Given the description of an element on the screen output the (x, y) to click on. 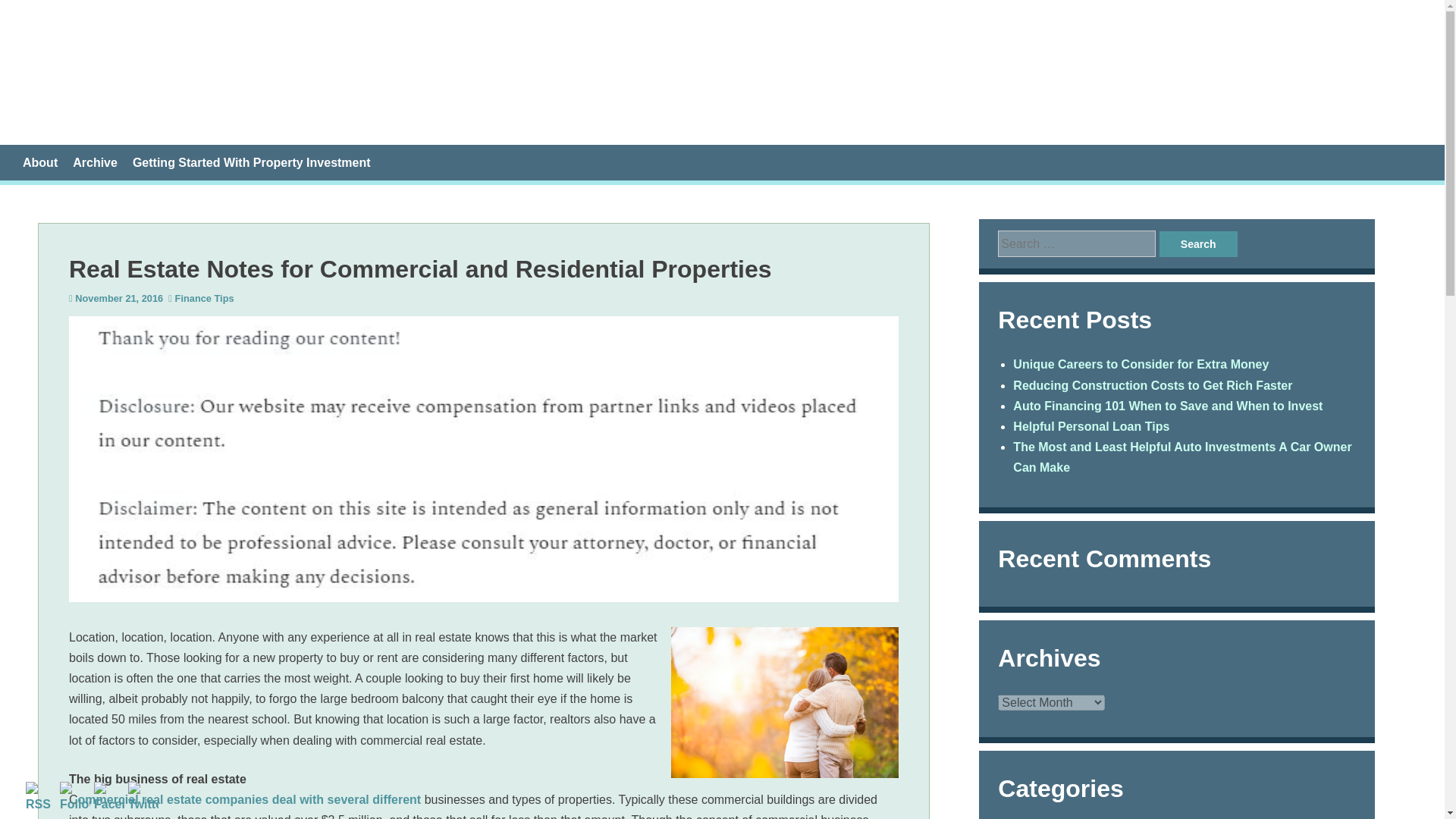
Auto Financing 101 When to Save and When to Invest (1167, 405)
Unique Careers to Consider for Extra Money (1140, 364)
Search (1197, 243)
RSS (41, 798)
ommercial real estate companies deal with several different (250, 799)
Getting Started With Property Investment (251, 162)
November 21, 2016 (119, 297)
Search (1197, 243)
Find more info on Commercial real estate (250, 799)
About (40, 162)
Get Rich City (159, 71)
Archive (94, 162)
Facebook (108, 798)
Helpful Personal Loan Tips (1091, 426)
